Given the description of an element on the screen output the (x, y) to click on. 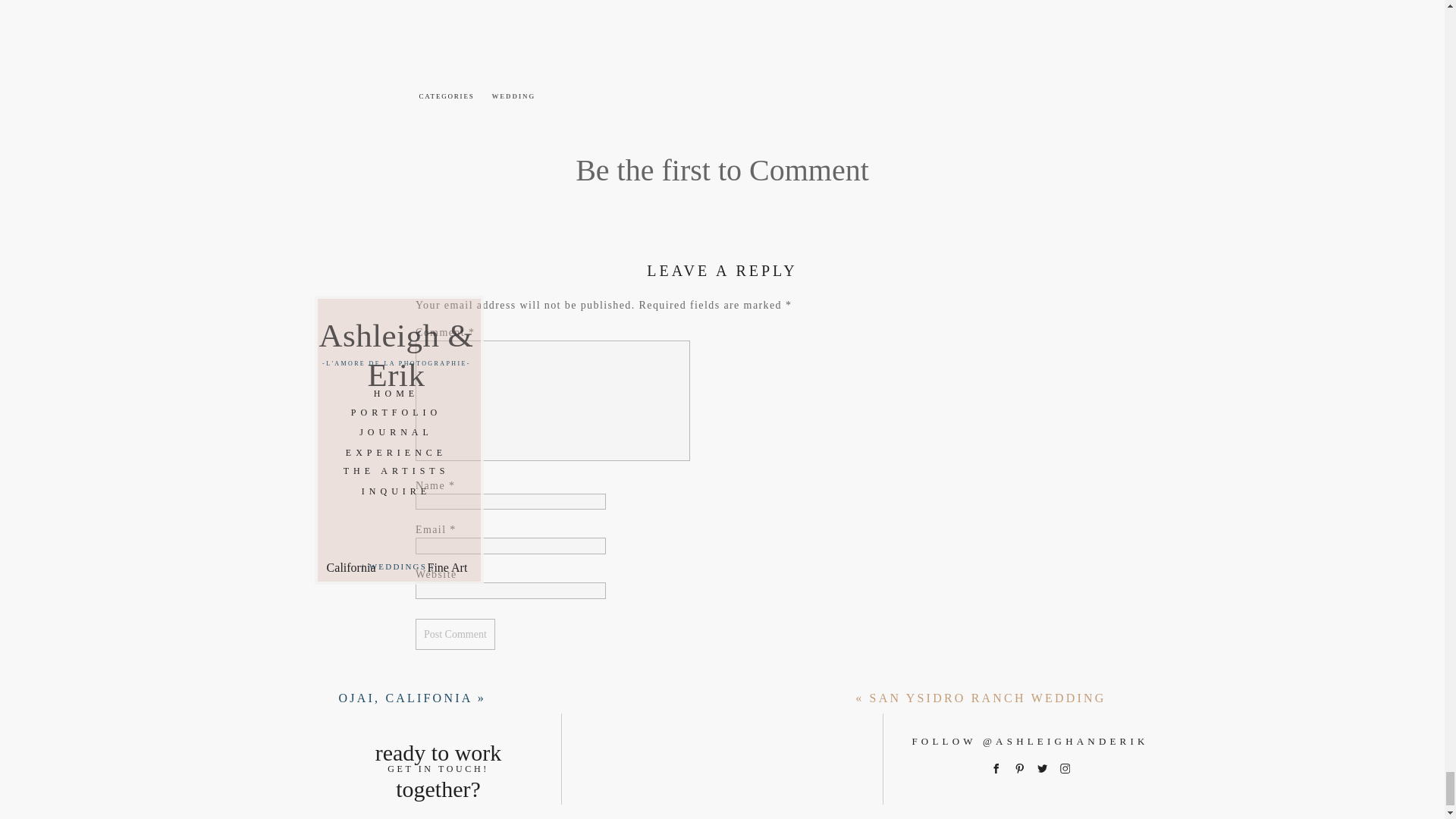
SAN YSIDRO RANCH WEDDING (987, 697)
OJAI, CALIFONIA (405, 697)
Be the first to Comment (722, 170)
GET IN TOUCH! (437, 759)
Post Comment (454, 634)
WEDDING (513, 95)
Post Comment (454, 634)
